Given the description of an element on the screen output the (x, y) to click on. 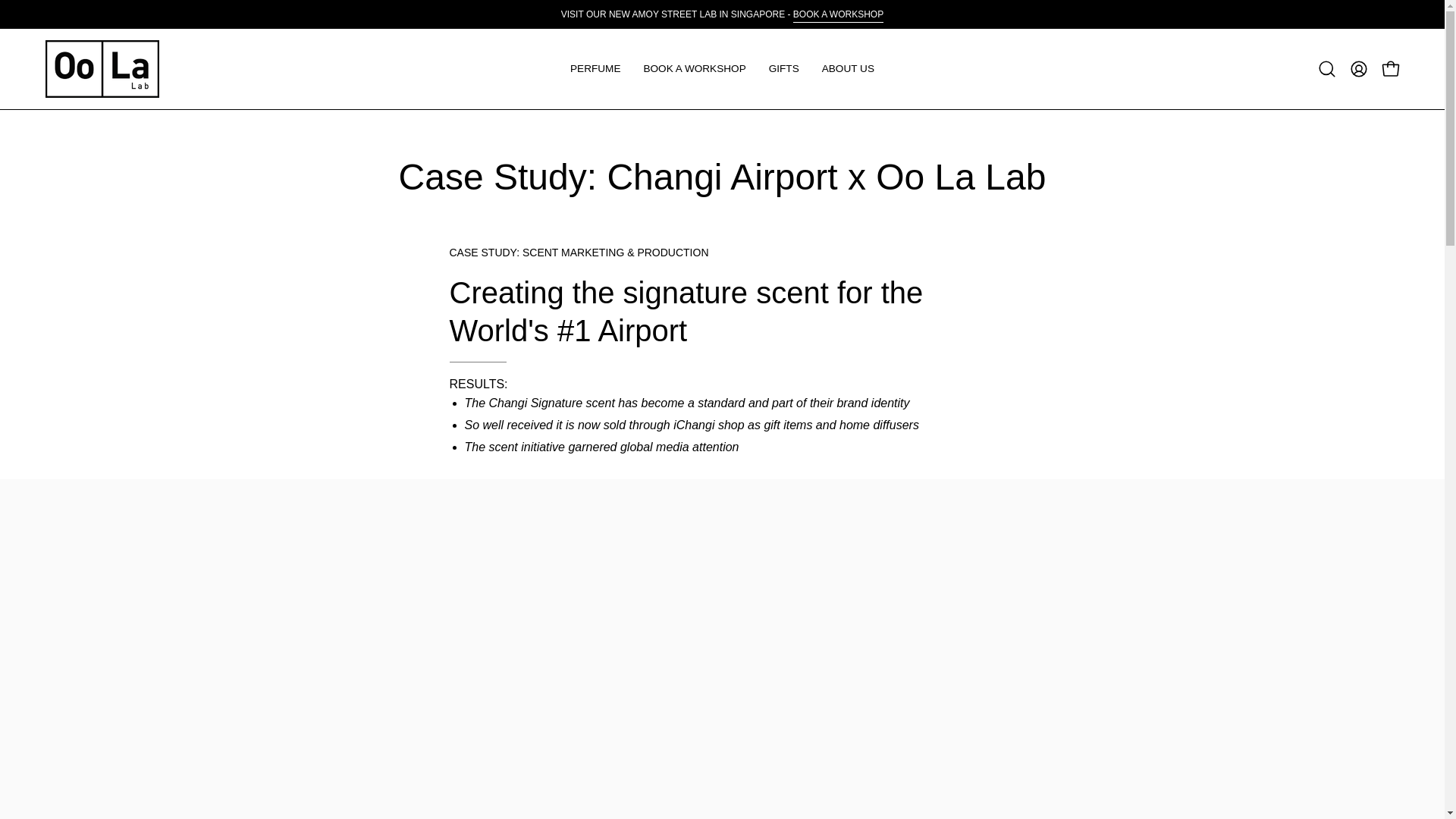
Singapore Workshops (838, 14)
MY ACCOUNT (1358, 69)
BOOK A WORKSHOP (838, 14)
OPEN CART (1390, 69)
BOOK A WORKSHOP (694, 68)
ABOUT US (847, 68)
View Oo La Lab on Instagram (238, 722)
View Oo La Lab on Tiktok (273, 722)
Open search bar (1326, 69)
PERFUME (595, 68)
